Given the description of an element on the screen output the (x, y) to click on. 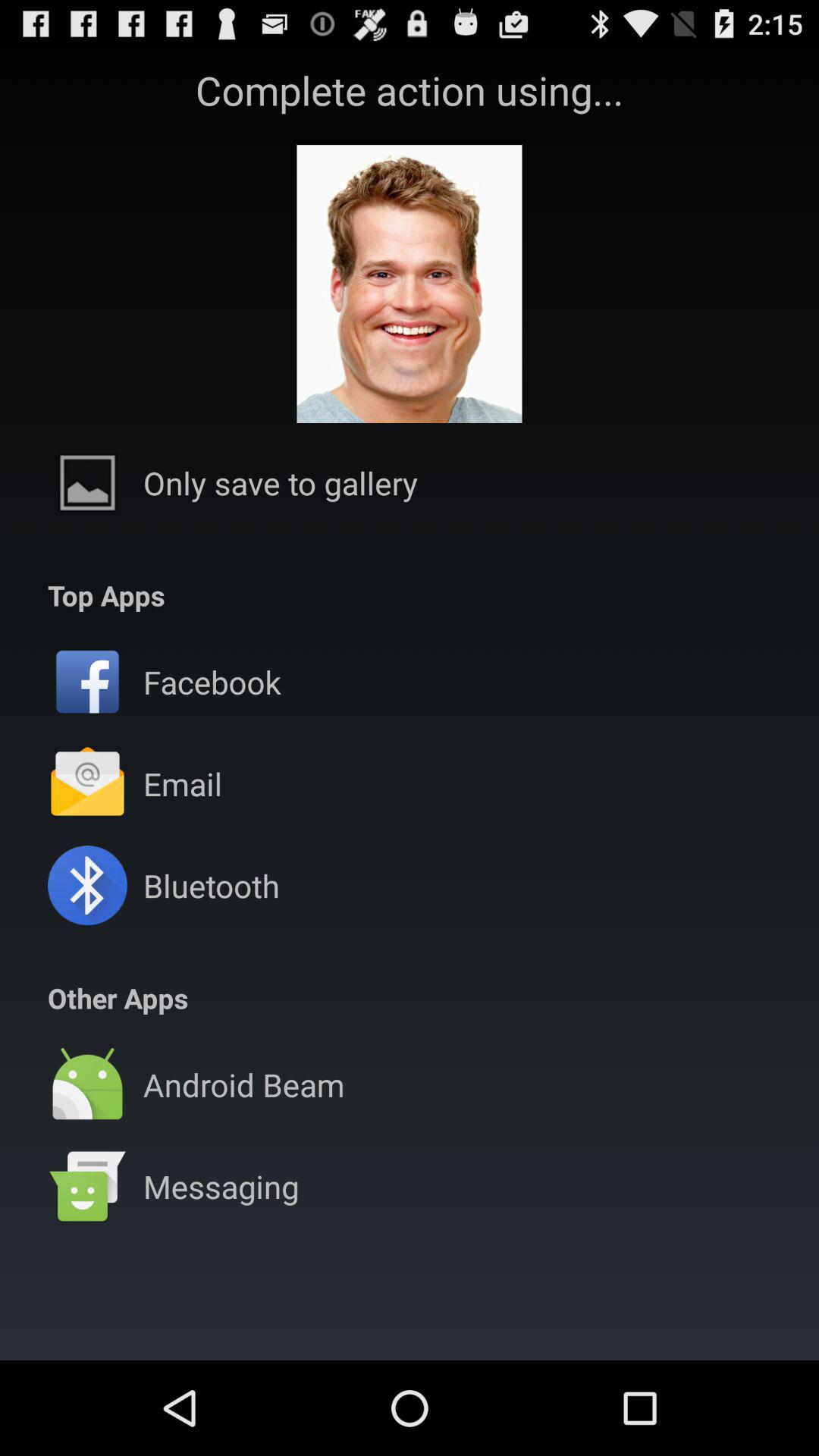
press icon above the top apps icon (280, 482)
